Given the description of an element on the screen output the (x, y) to click on. 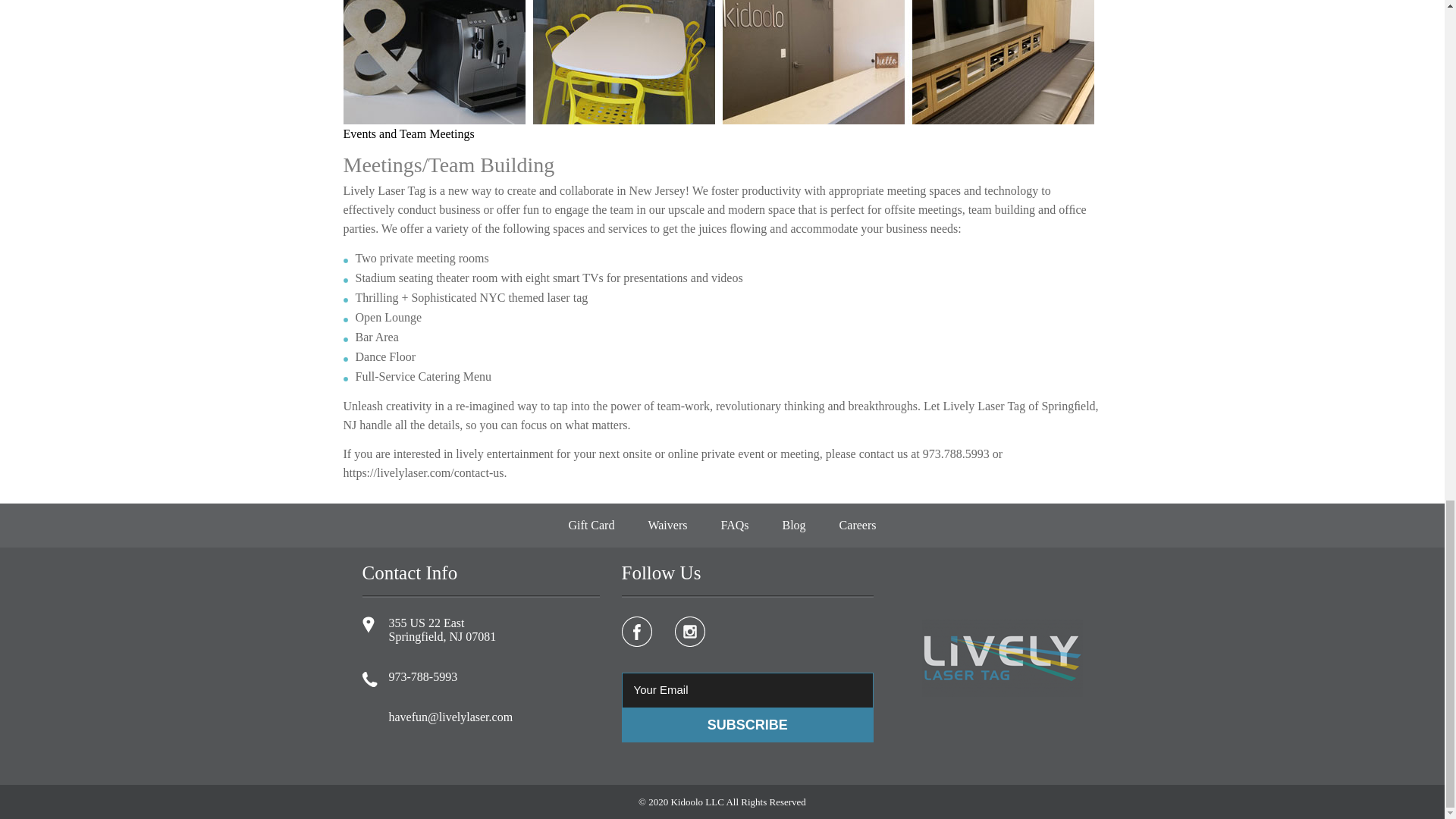
Waivers (666, 525)
Subscribe (748, 725)
Blog (794, 525)
Subscribe (748, 725)
FAQs (733, 525)
Gift Card (591, 525)
Careers (857, 525)
973-788-5993 (422, 676)
